Given the description of an element on the screen output the (x, y) to click on. 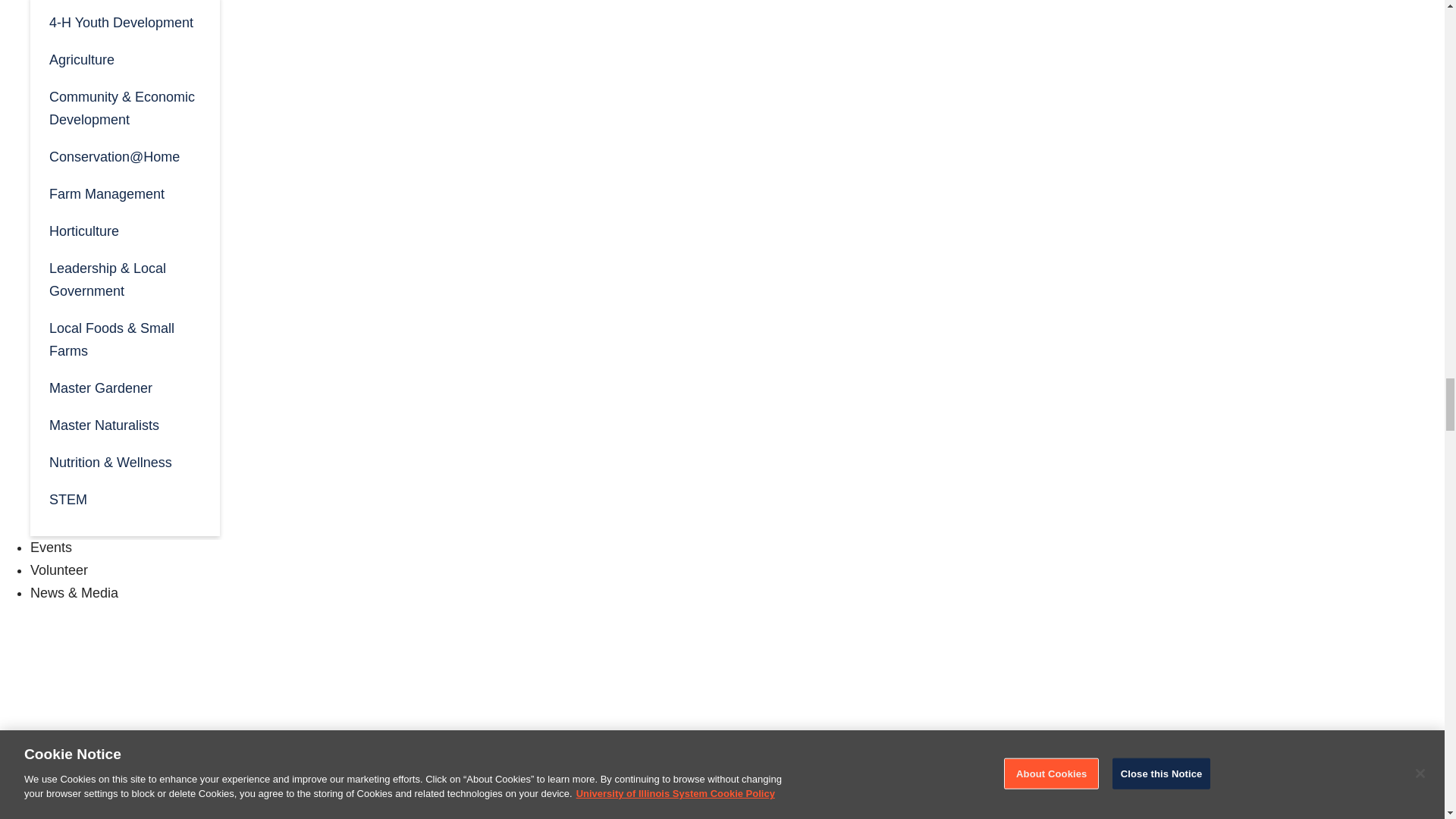
4-H Youth Development (125, 21)
Volunteer (58, 570)
Master Naturalists (125, 424)
STEM (125, 497)
Agriculture (125, 58)
Master Gardener (125, 386)
Farm Management (125, 192)
Horticulture (125, 229)
Events (50, 547)
